Given the description of an element on the screen output the (x, y) to click on. 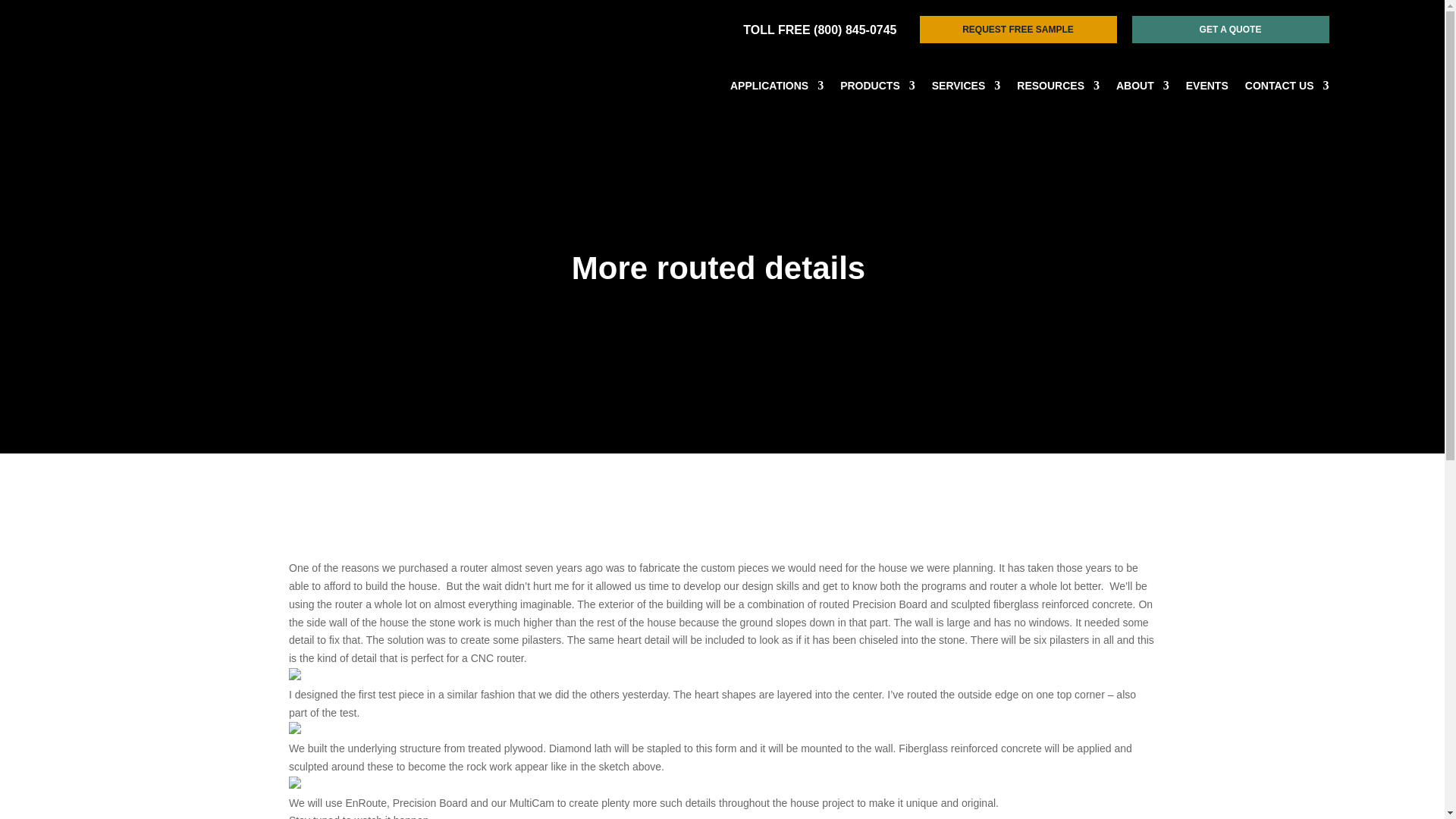
SERVICES (966, 88)
RESOURCES (1057, 88)
GET A QUOTE (1229, 29)
PRODUCTS (877, 88)
APPLICATIONS (777, 88)
REQUEST FREE SAMPLE (1017, 29)
